Given the description of an element on the screen output the (x, y) to click on. 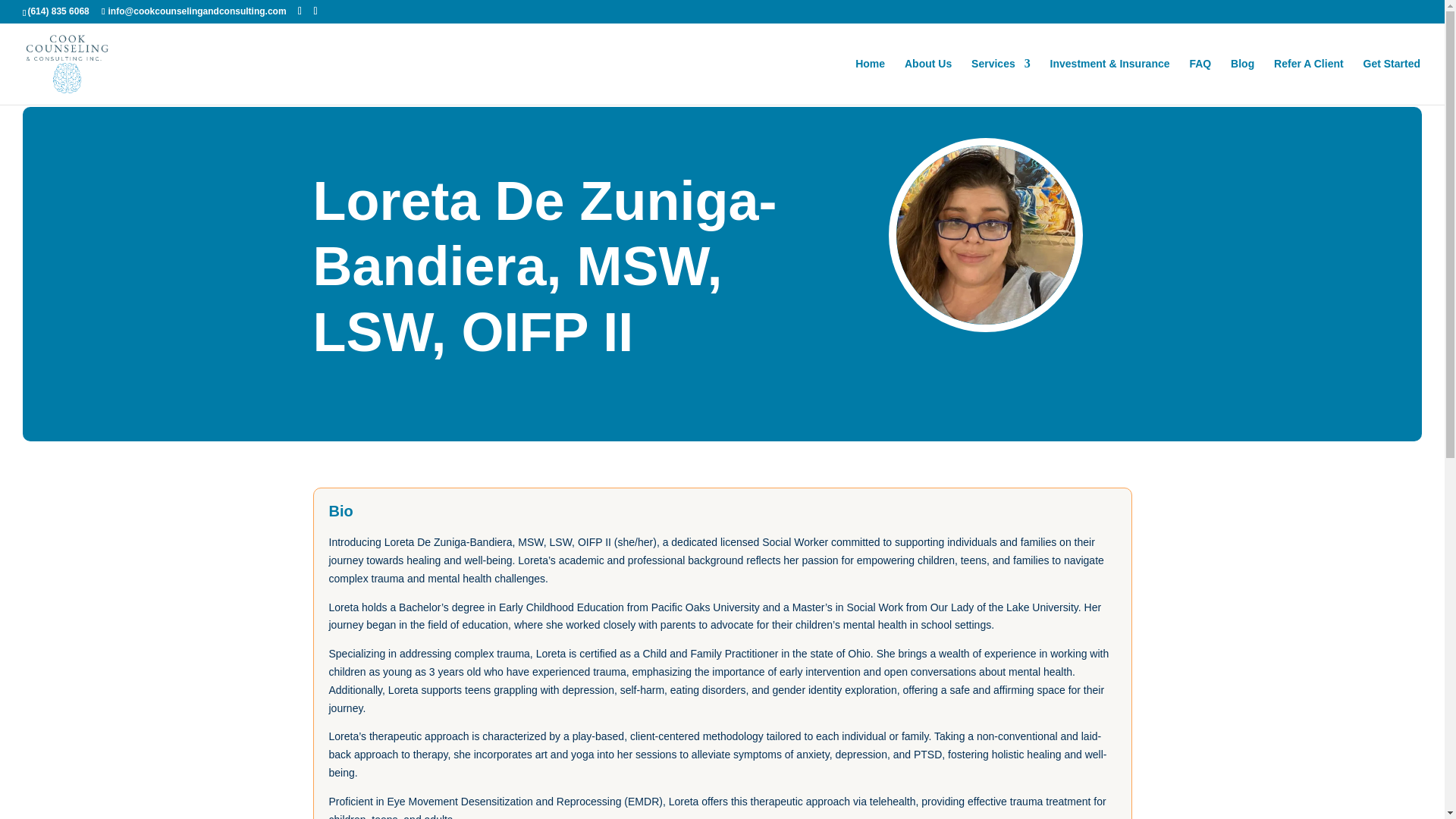
Get Started (1391, 81)
Refer A Client (1308, 81)
35 (985, 234)
Services (1000, 81)
About Us (928, 81)
